Given the description of an element on the screen output the (x, y) to click on. 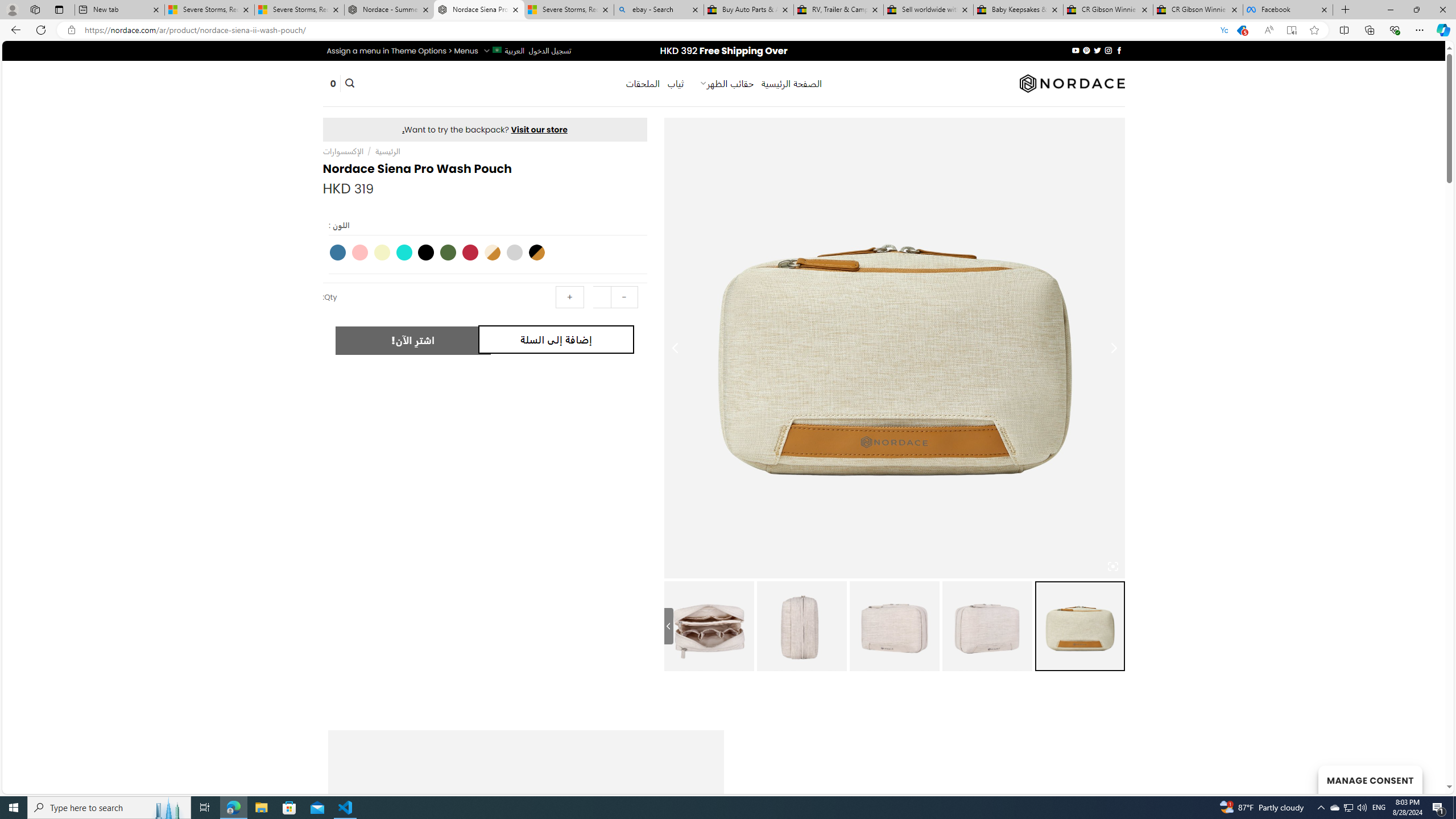
Follow on Twitter (1096, 50)
  0 (333, 83)
ebay - Search (658, 9)
You have the best price! (1241, 29)
Facebook (1287, 9)
Sell worldwide with eBay (928, 9)
